Given the description of an element on the screen output the (x, y) to click on. 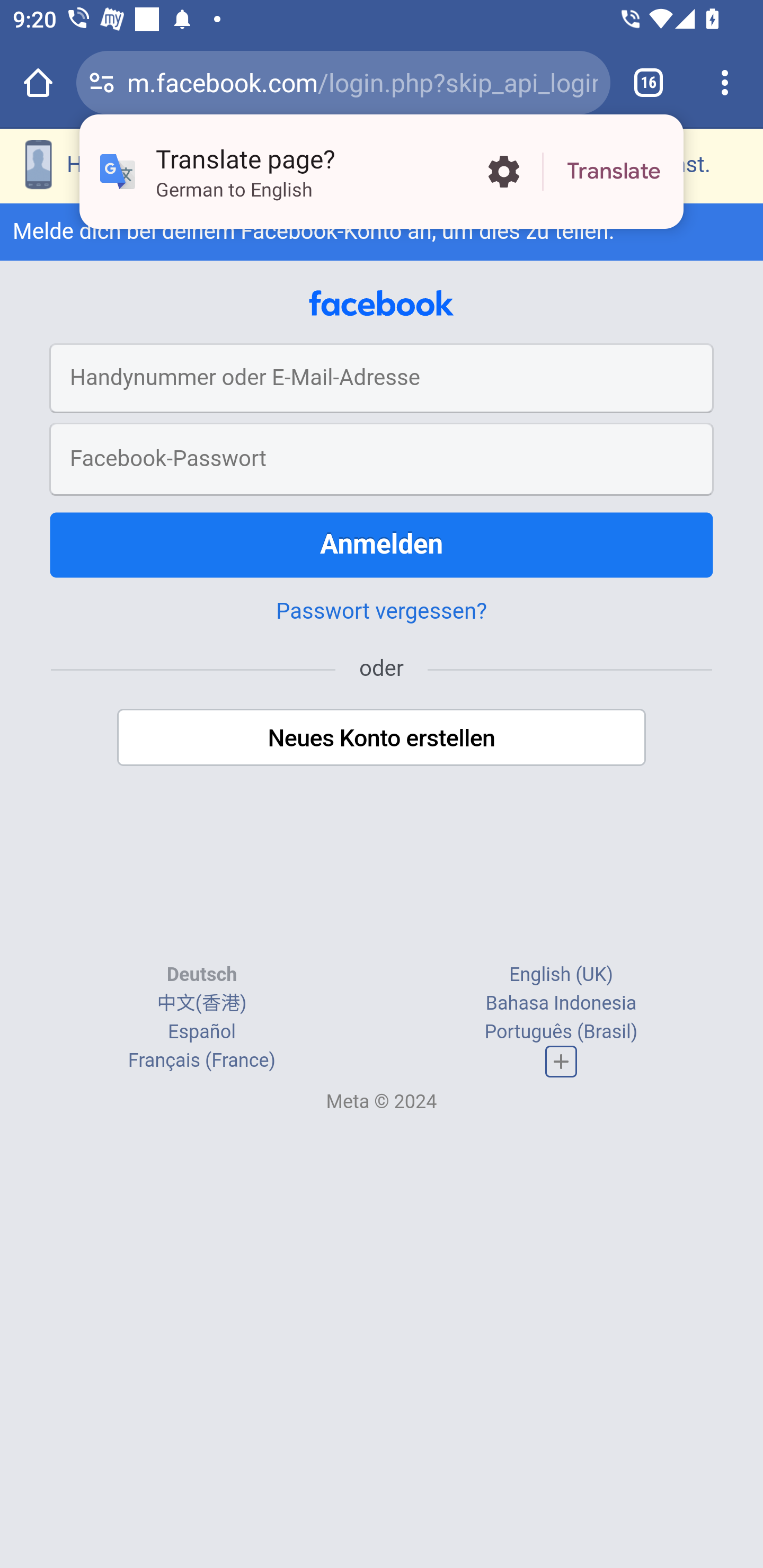
Open the home page (38, 82)
Connection is secure (101, 82)
Switch or close tabs (648, 82)
Customize and control Google Chrome (724, 82)
Translate (613, 171)
More options in the Translate page? (503, 171)
facebook (381, 302)
Anmelden (381, 544)
Passwort vergessen? (381, 610)
Neues Konto erstellen (381, 736)
English (UK) (560, 974)
中文(香港) (201, 1003)
Bahasa Indonesia (560, 1003)
Español (201, 1032)
Português (Brasil) (560, 1032)
Vollständige Liste aller Sprachen (560, 1060)
Français (France) (201, 1060)
